Given the description of an element on the screen output the (x, y) to click on. 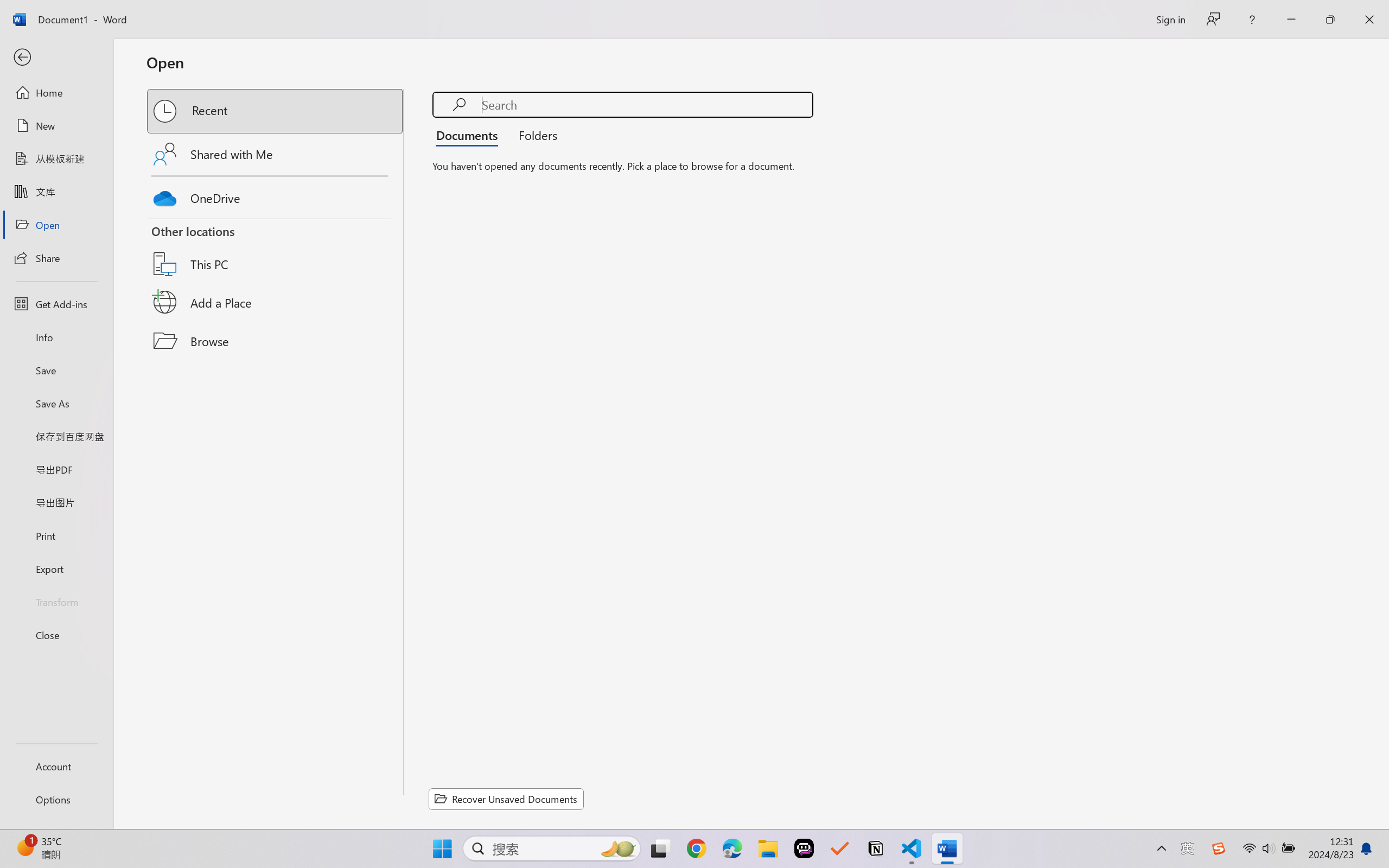
Recent (275, 110)
Back (56, 57)
Shared with Me (275, 153)
